Given the description of an element on the screen output the (x, y) to click on. 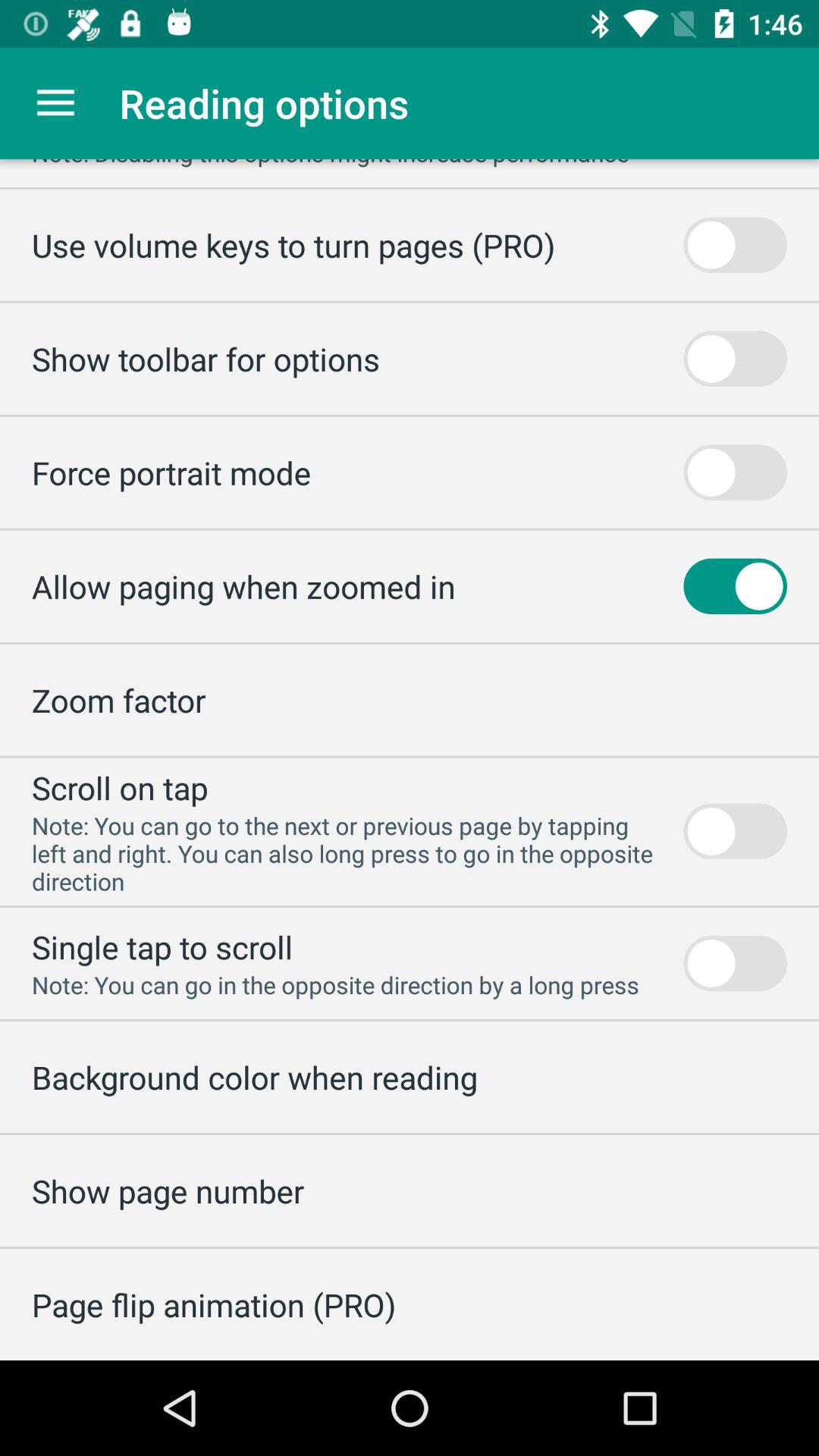
press icon below the show toolbar for (171, 472)
